Given the description of an element on the screen output the (x, y) to click on. 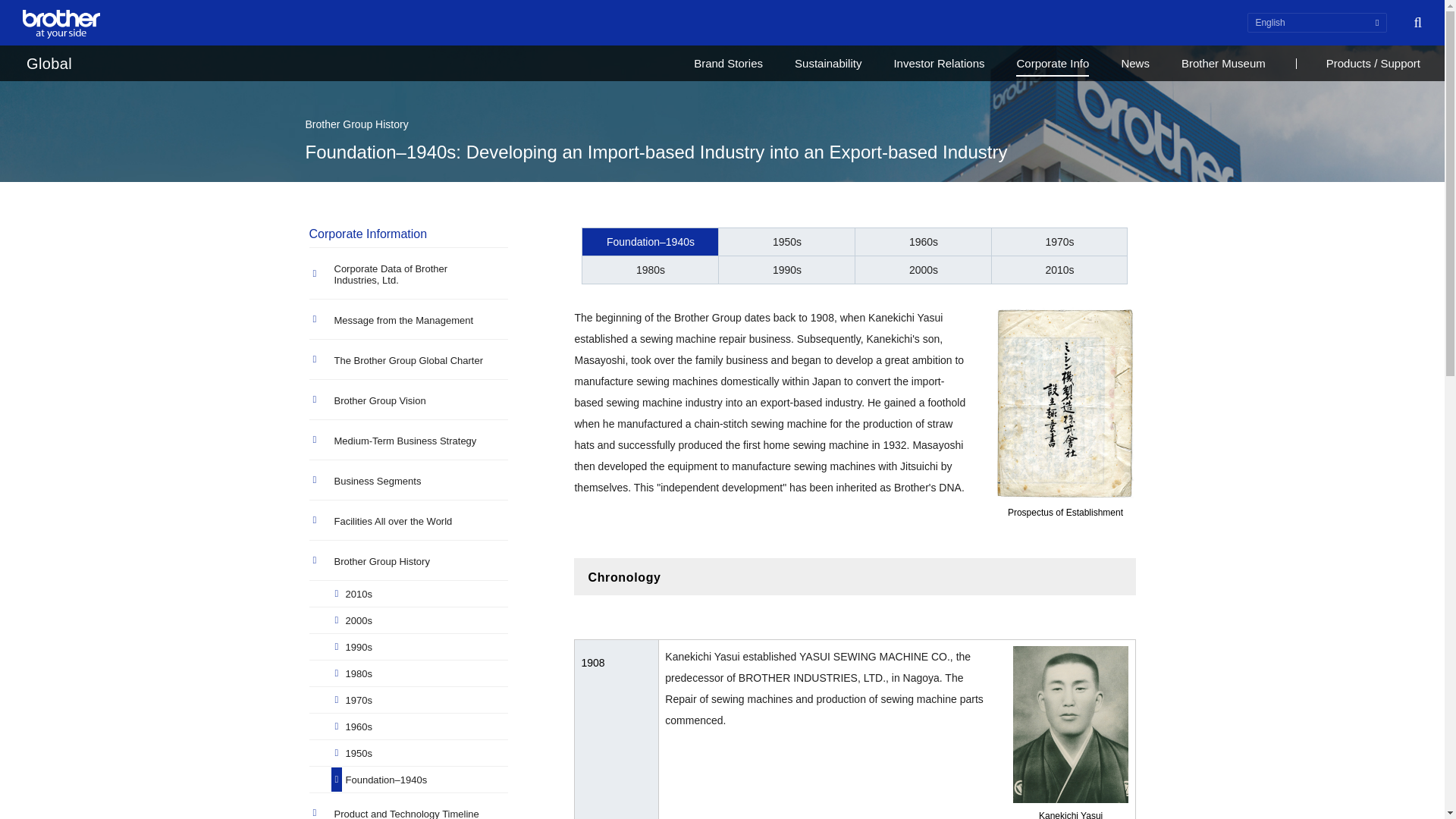
Sustainability (827, 63)
Corporate Info (1052, 63)
Investor Relations (938, 63)
Brother Museum (1222, 63)
News (1135, 63)
Brand Stories (728, 63)
